Given the description of an element on the screen output the (x, y) to click on. 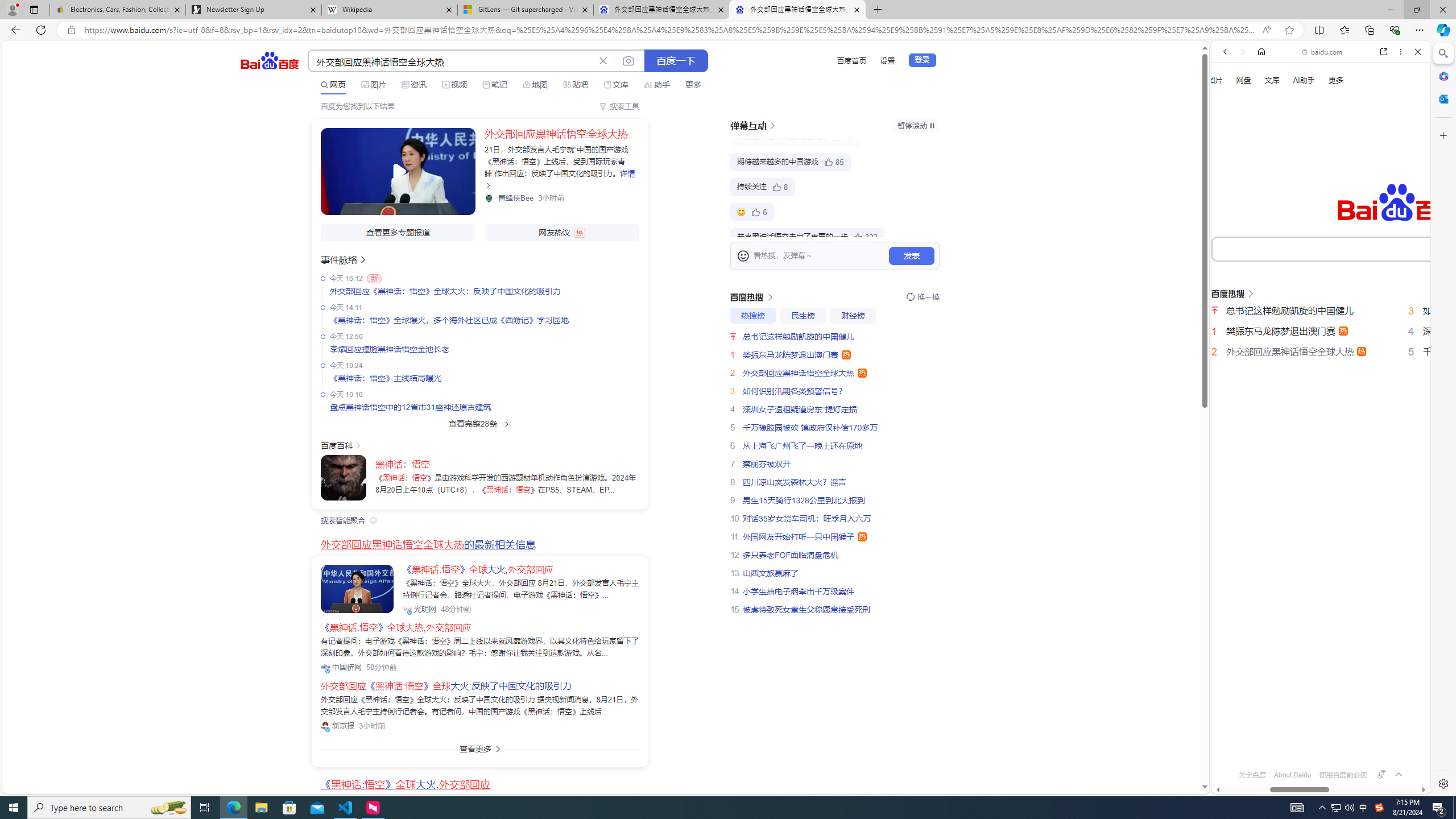
Side bar (1443, 418)
Split screen (1318, 29)
Actions for this site (1381, 514)
Add this page to favorites (Ctrl+D) (1289, 29)
